Given the description of an element on the screen output the (x, y) to click on. 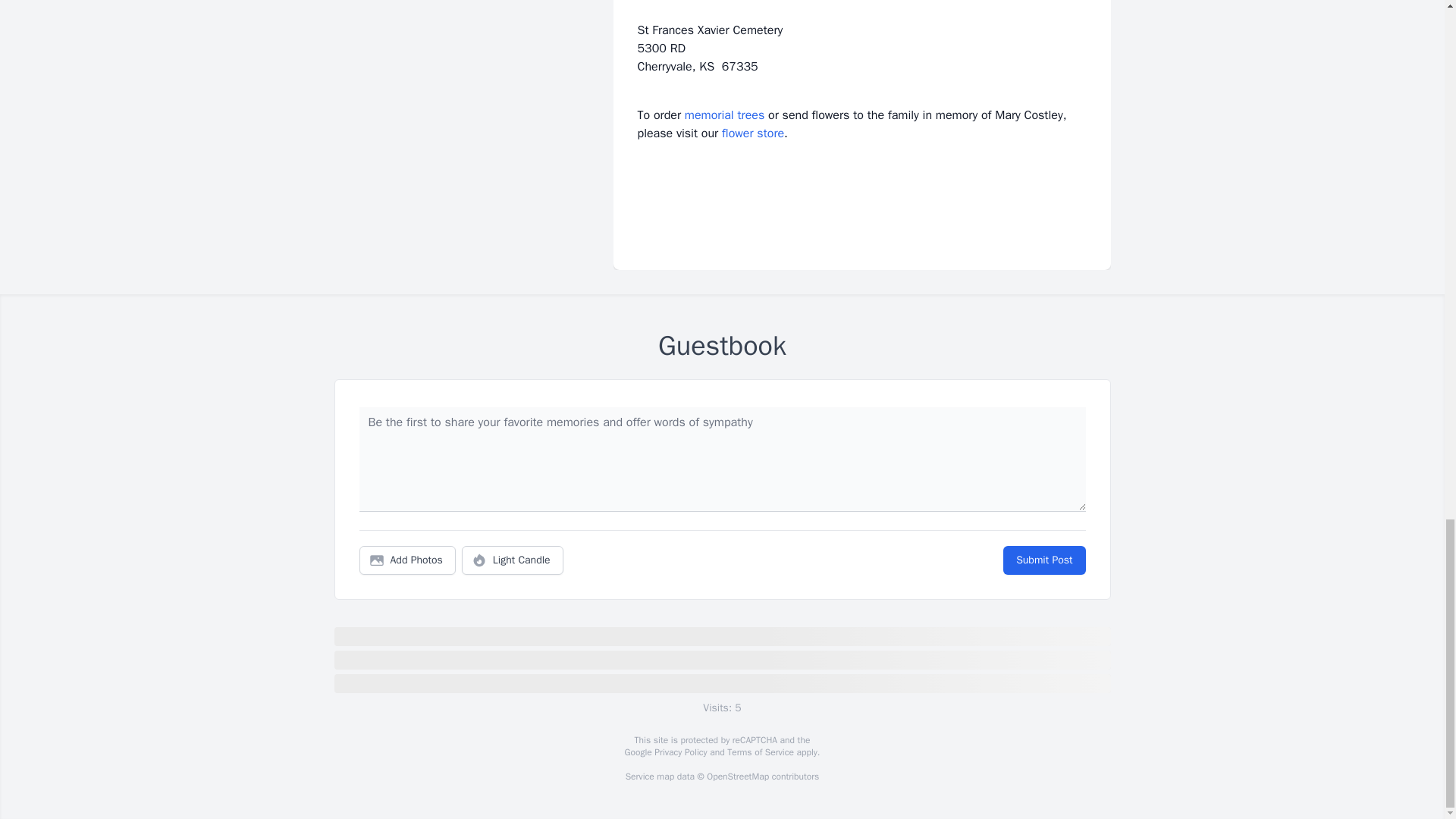
OpenStreetMap (737, 776)
memorial trees (724, 114)
Light Candle (512, 560)
Terms of Service (759, 752)
Add Photos (407, 560)
flower store (753, 133)
Submit Post (1043, 560)
Privacy Policy (679, 752)
